Given the description of an element on the screen output the (x, y) to click on. 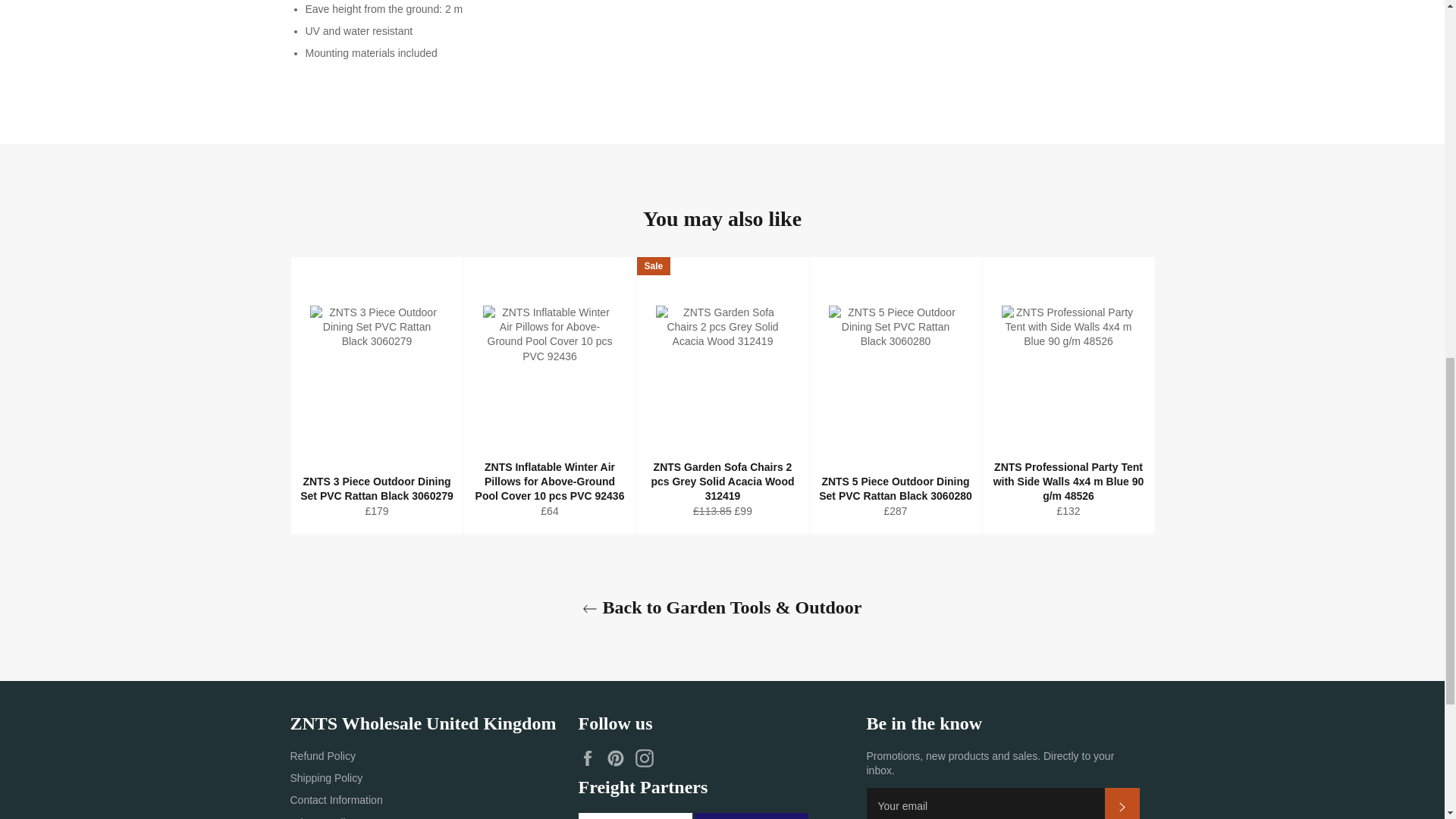
ZNTS Wholesale United Kingdom on Facebook (591, 758)
ZNTS Wholesale United Kingdom on Pinterest (619, 758)
ZNTS Wholesale United Kingdom on Instagram (647, 758)
